Given the description of an element on the screen output the (x, y) to click on. 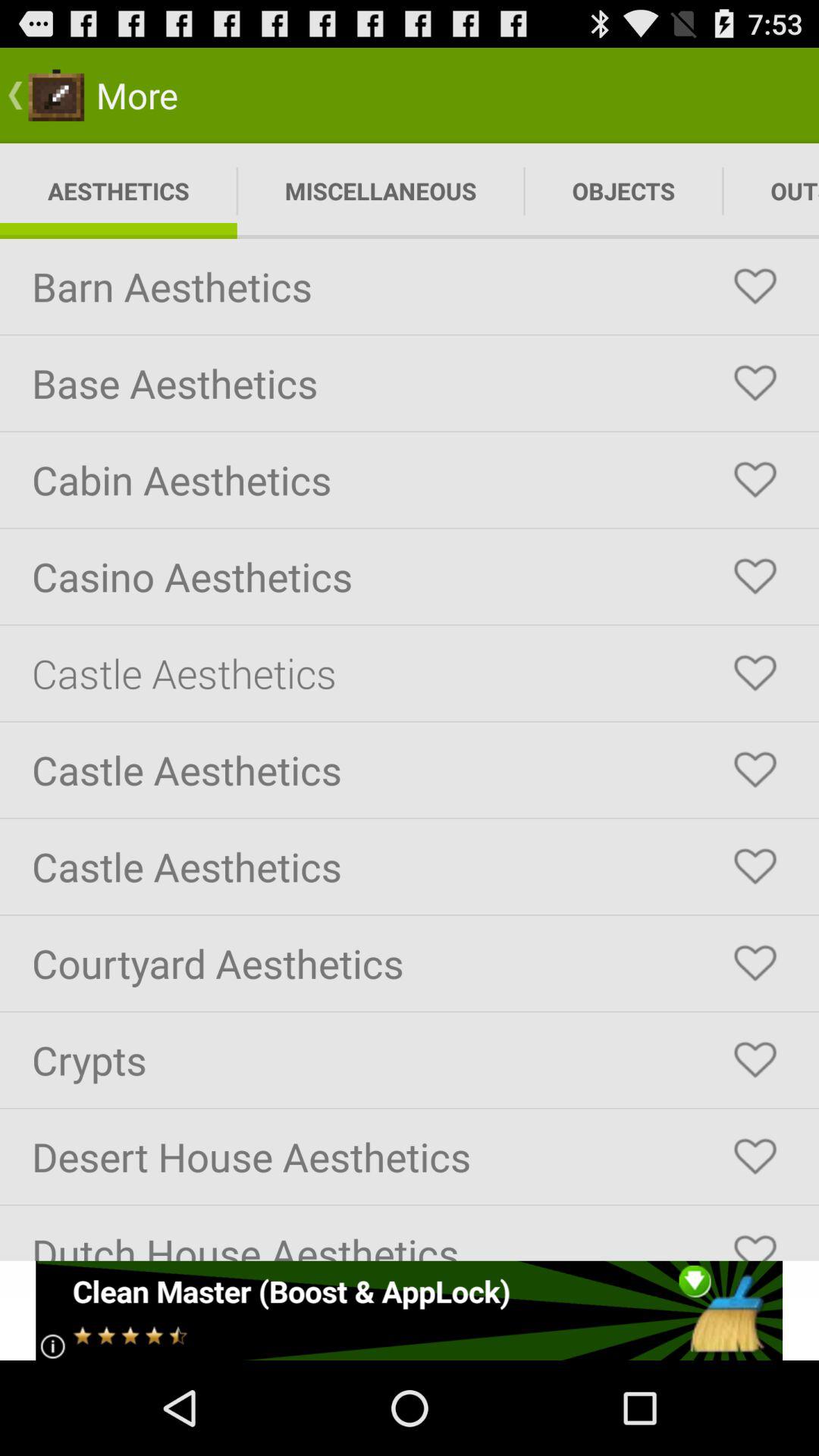
select the add (408, 1310)
